Given the description of an element on the screen output the (x, y) to click on. 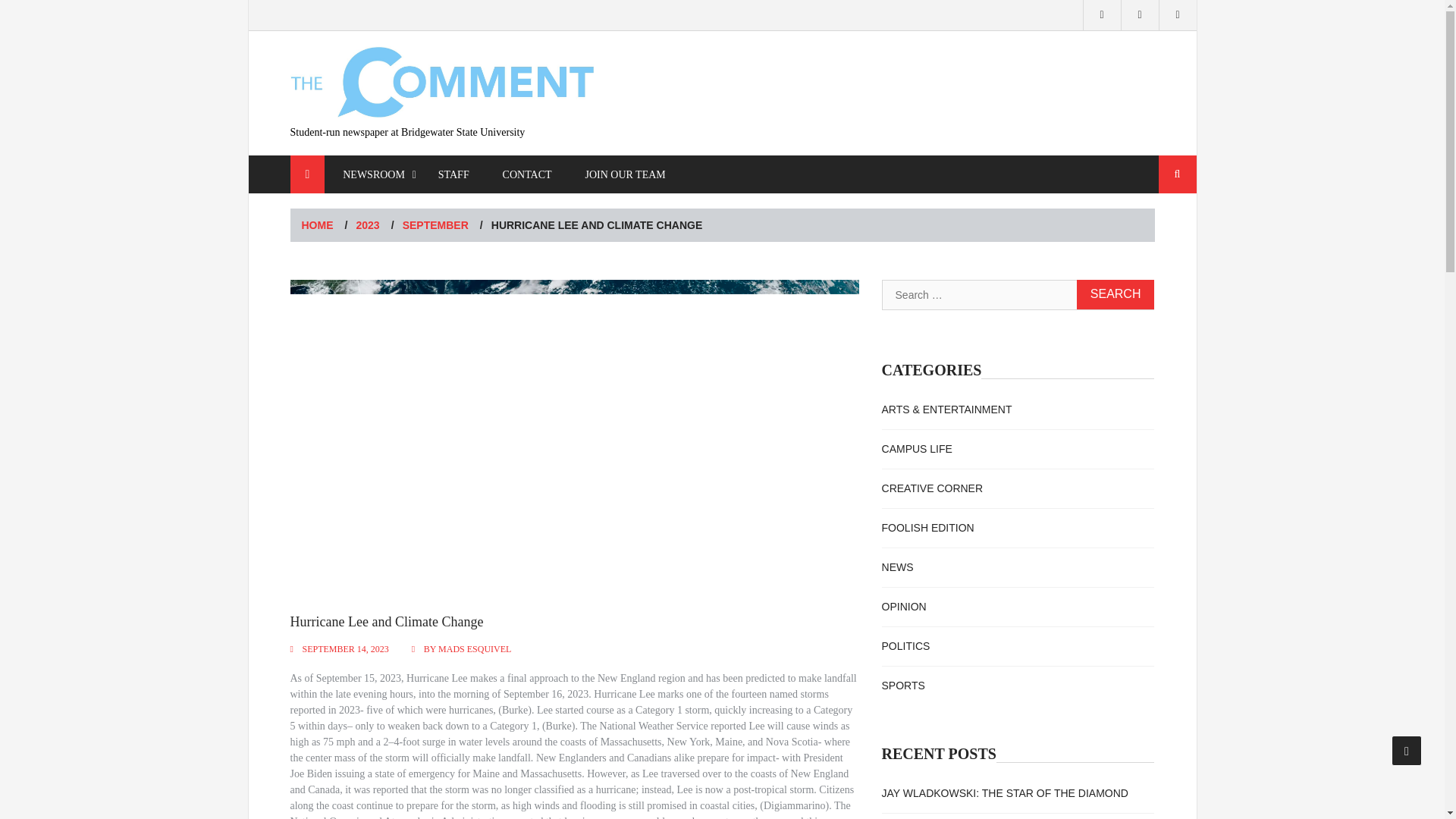
TWITTER (1139, 15)
SEPTEMBER (435, 224)
Search (1115, 294)
SEPTEMBER 14, 2023 (344, 648)
Search (1177, 174)
Search (1177, 174)
2023 (368, 224)
MADS ESQUIVEL (474, 648)
STAFF (453, 174)
NEWSROOM (373, 174)
